Given the description of an element on the screen output the (x, y) to click on. 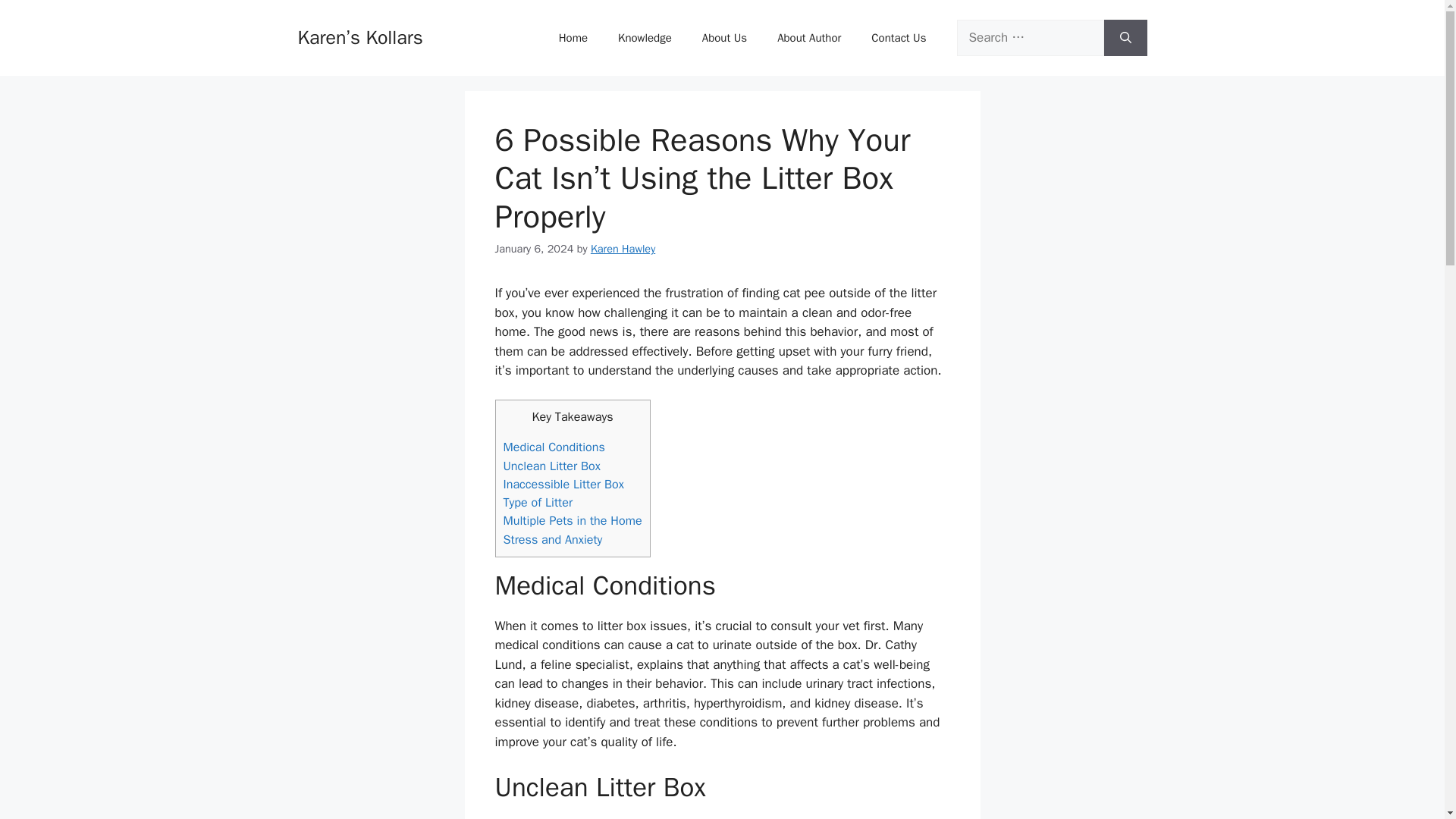
About Us (724, 37)
Medical Conditions (554, 446)
Type of Litter (538, 502)
Inaccessible Litter Box (563, 483)
Search for: (1029, 37)
Knowledge (644, 37)
Karen Hawley (623, 248)
Contact Us (898, 37)
About Author (808, 37)
Stress and Anxiety (552, 539)
